Given the description of an element on the screen output the (x, y) to click on. 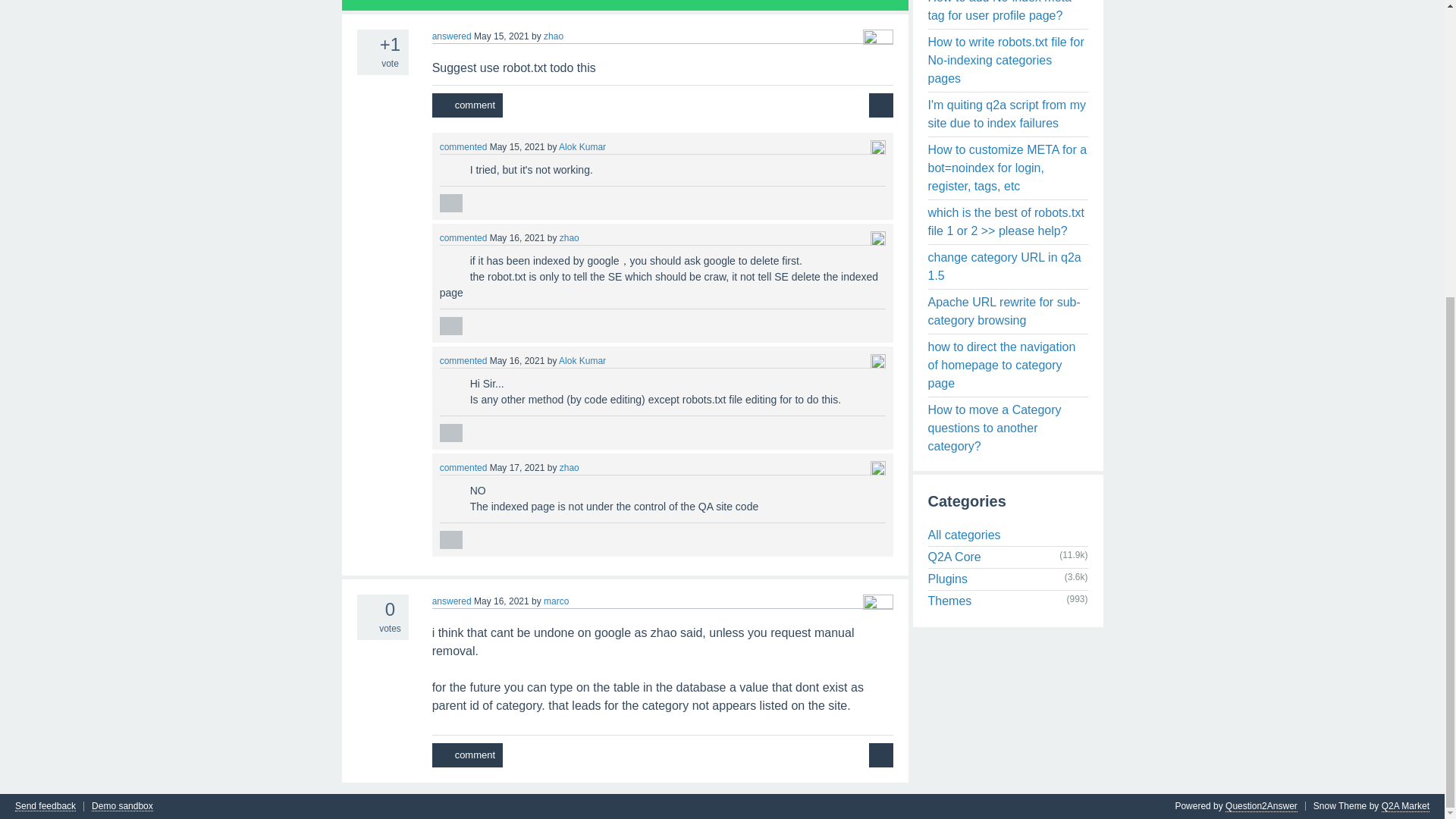
Click to vote up (365, 41)
Reply to this comment (451, 325)
answered (451, 36)
reply (451, 203)
Click to vote down (443, 265)
Click to vote down (365, 62)
Reply to this comment (451, 203)
reply (451, 433)
ask related question (881, 105)
Click to vote up (443, 256)
